Given the description of an element on the screen output the (x, y) to click on. 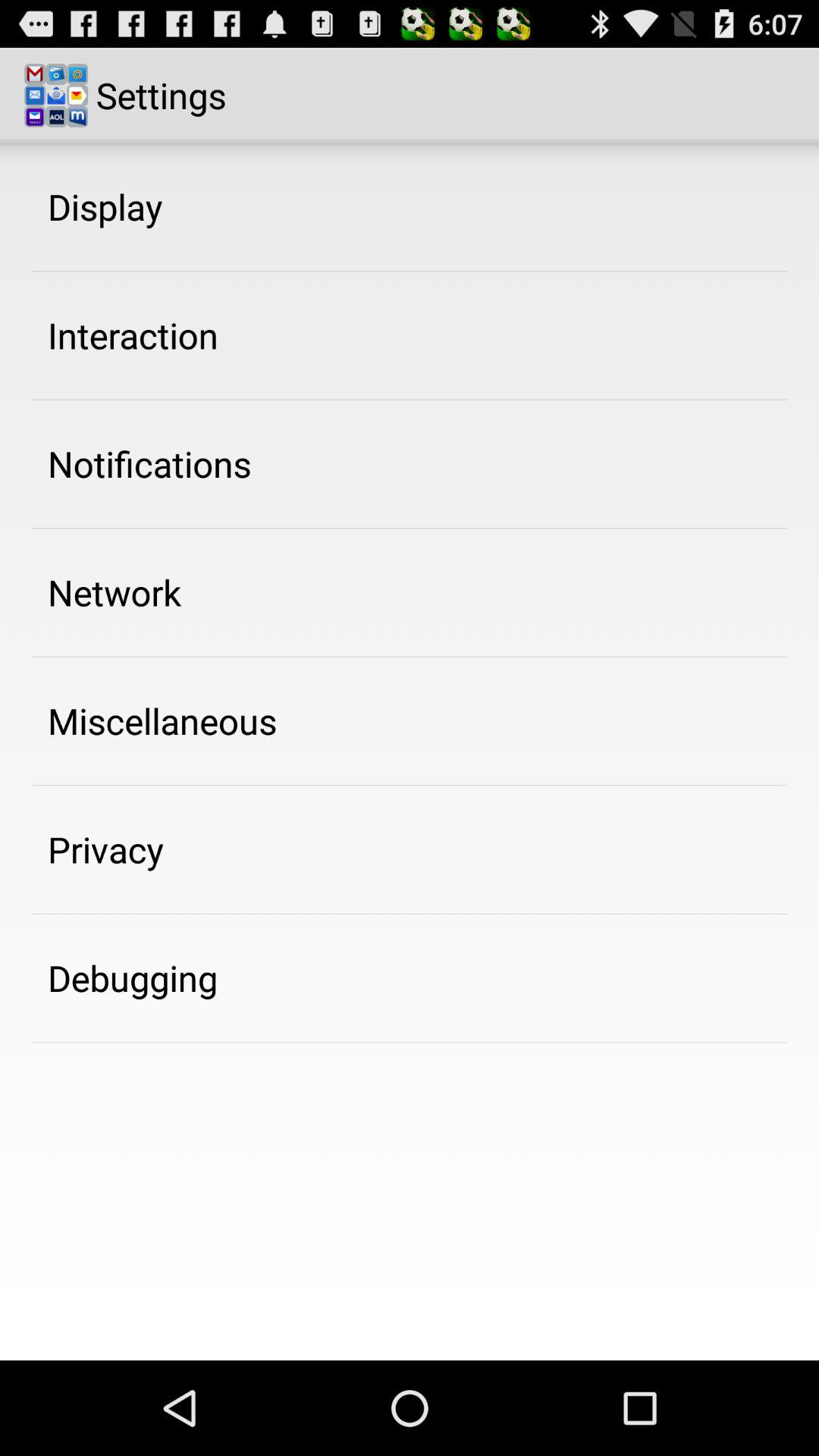
open the interaction (132, 335)
